Given the description of an element on the screen output the (x, y) to click on. 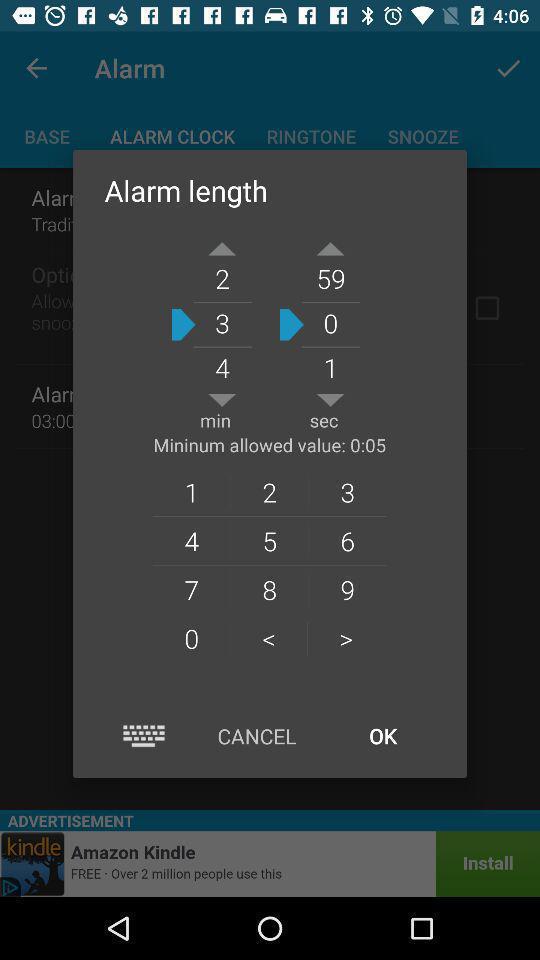
choose ok item (382, 735)
